Given the description of an element on the screen output the (x, y) to click on. 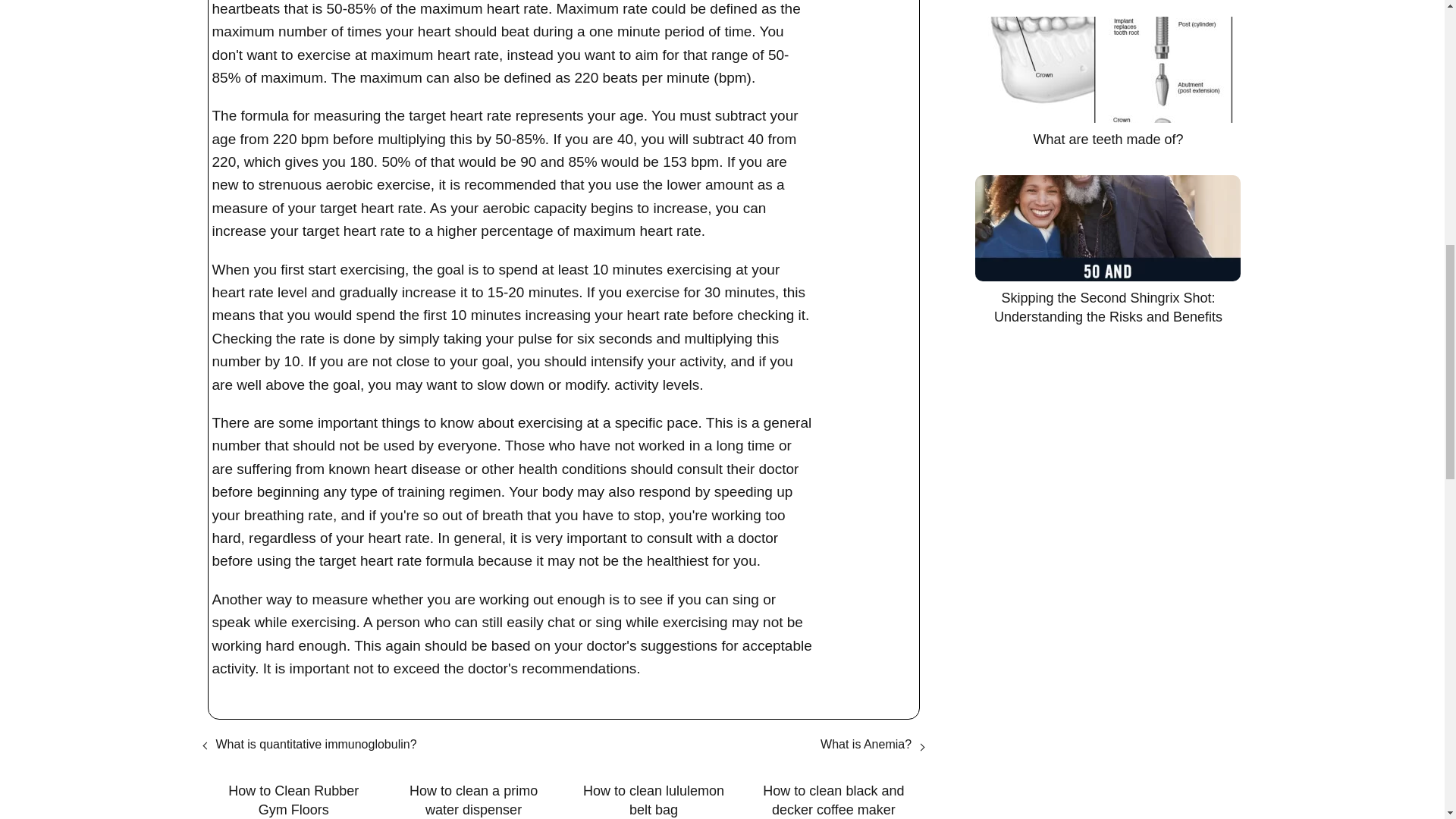
What is Anemia? (866, 744)
How to clean black and decker coffee maker (833, 800)
What is quantitative immunoglobulin? (315, 744)
How to clean a primo water dispenser (473, 800)
How to Clean Rubber Gym Floors (293, 800)
Advertisement (1102, 67)
How to clean lululemon belt bag (652, 800)
